Given the description of an element on the screen output the (x, y) to click on. 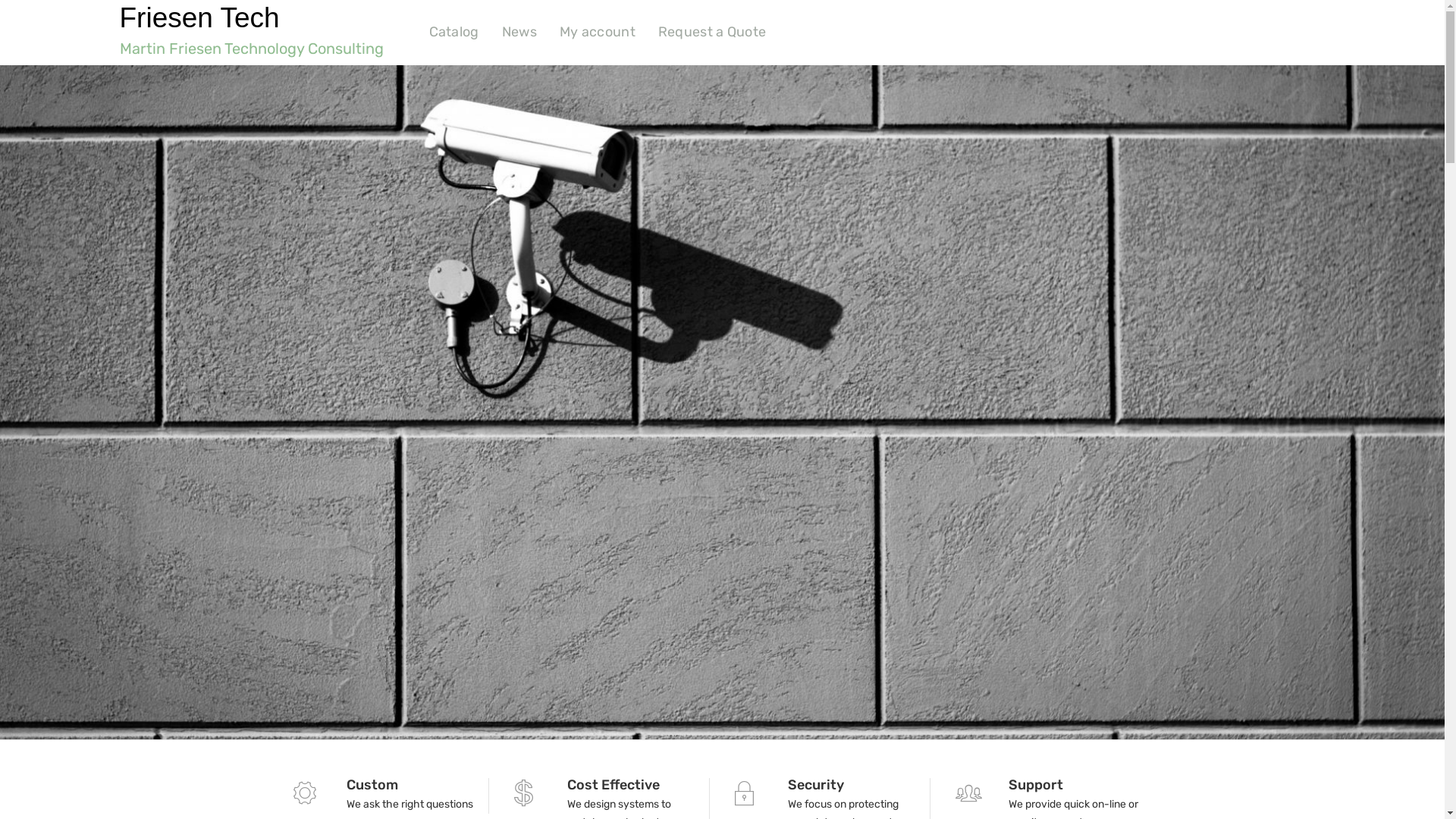
Catalog Element type: text (454, 31)
Skip to content Element type: text (0, 0)
Request a Quote Element type: text (712, 31)
Search Element type: text (32, 20)
News Element type: text (519, 31)
My account Element type: text (597, 31)
Friesen Tech Element type: text (199, 17)
